Given the description of an element on the screen output the (x, y) to click on. 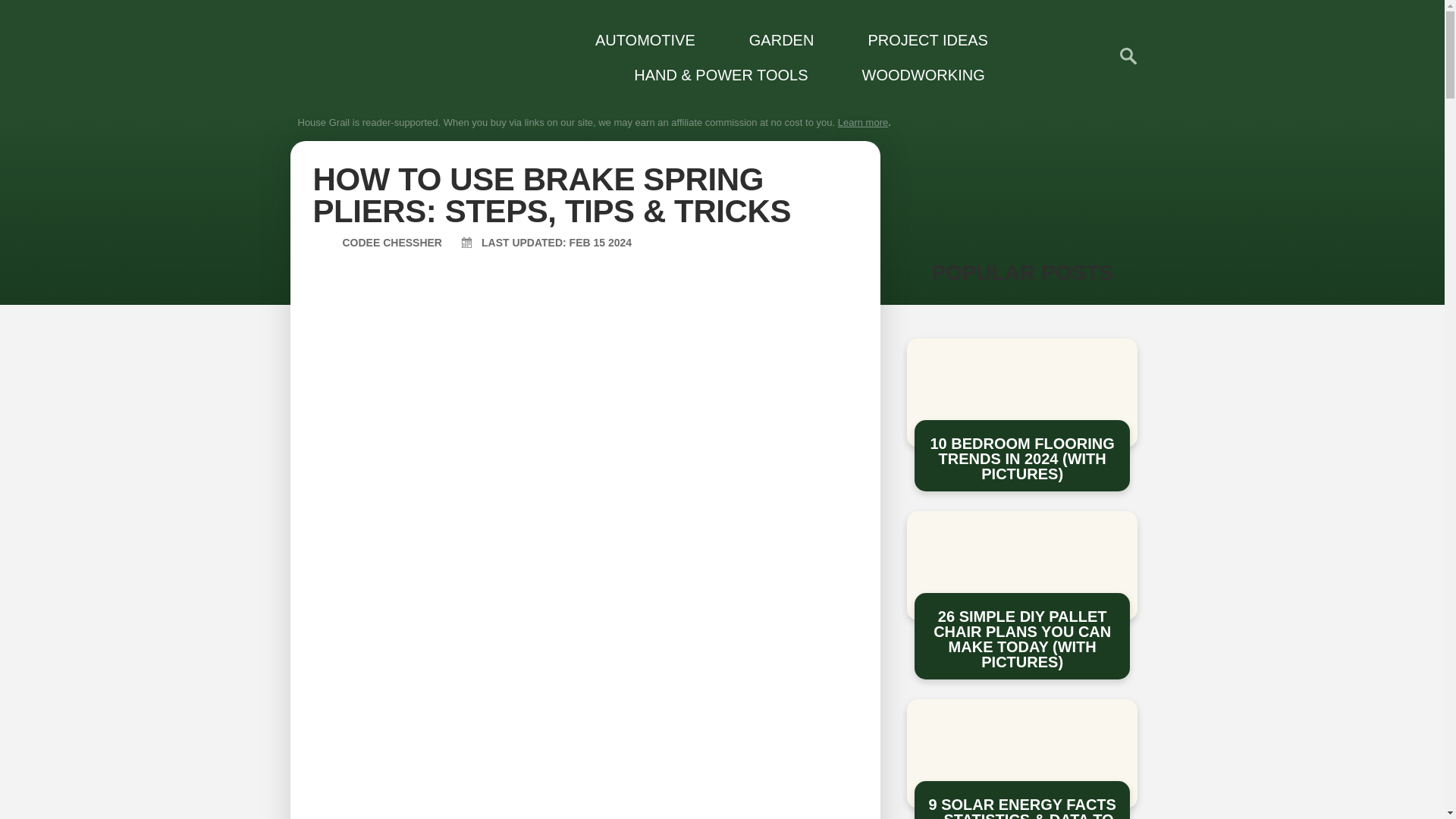
WOODWORKING (913, 74)
GARDEN (771, 39)
Learn more (863, 122)
PROJECT IDEAS (918, 39)
AUTOMOTIVE (635, 39)
